Given the description of an element on the screen output the (x, y) to click on. 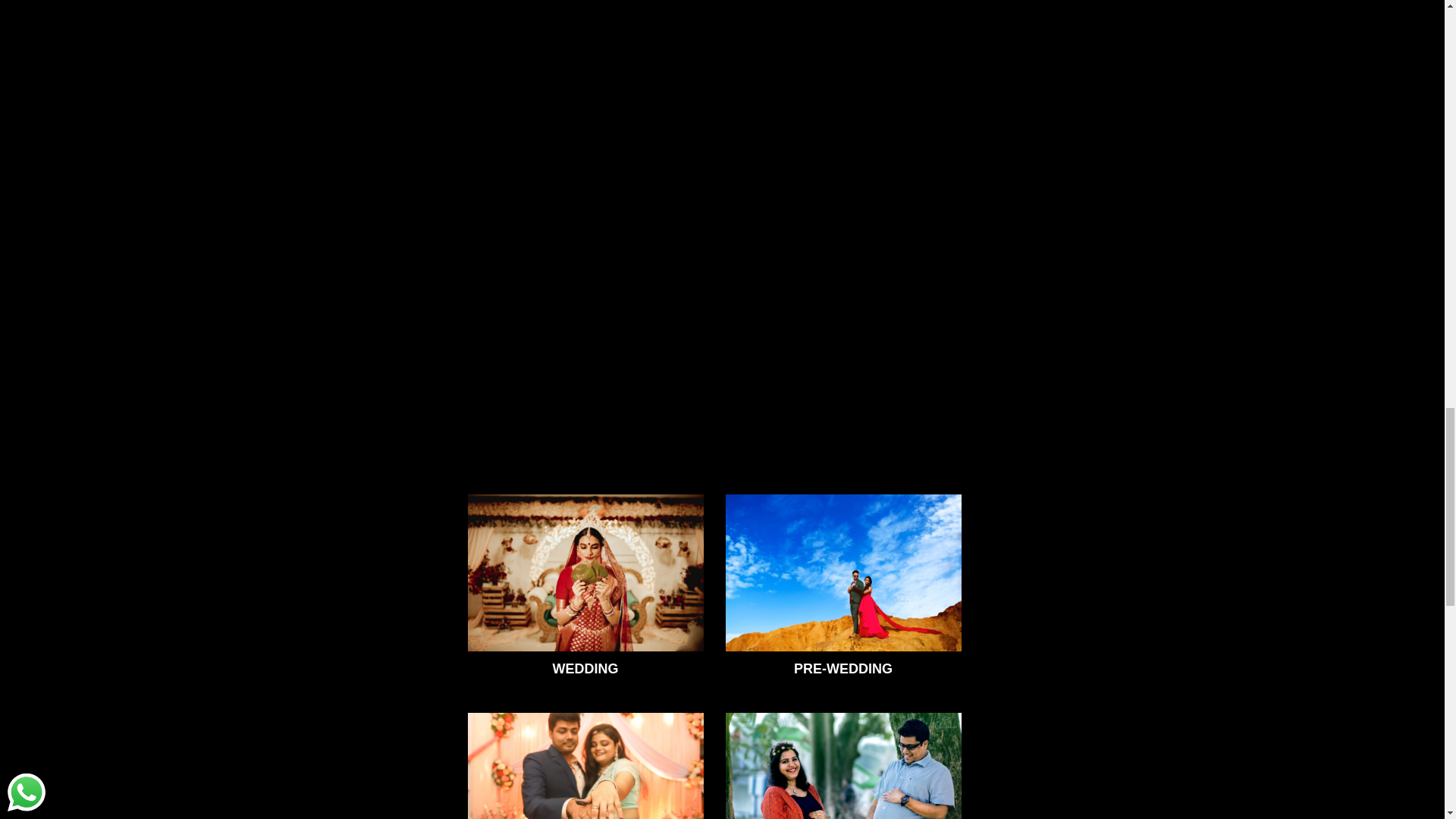
ENGAGEMENT (585, 764)
MATERNITY (842, 764)
WEDDING (585, 588)
PRE-WEDDING (842, 588)
